Given the description of an element on the screen output the (x, y) to click on. 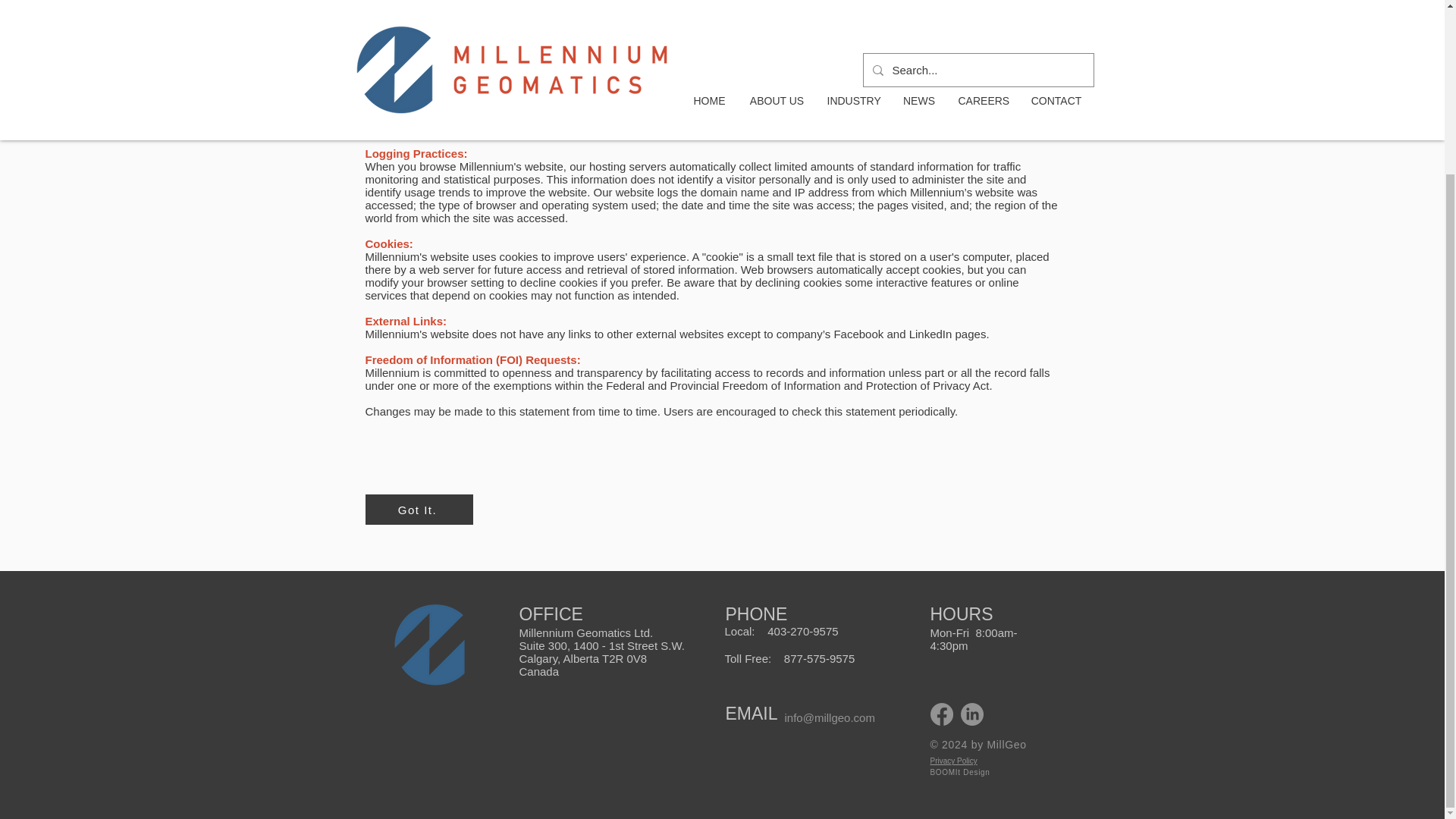
www.millgeo.com (451, 75)
Toll Free:    877-575-9575 (790, 658)
Privacy Policy (953, 760)
Local:    403-270-9575 (781, 631)
BOOMIt Design (960, 772)
Got It. (419, 509)
